Given the description of an element on the screen output the (x, y) to click on. 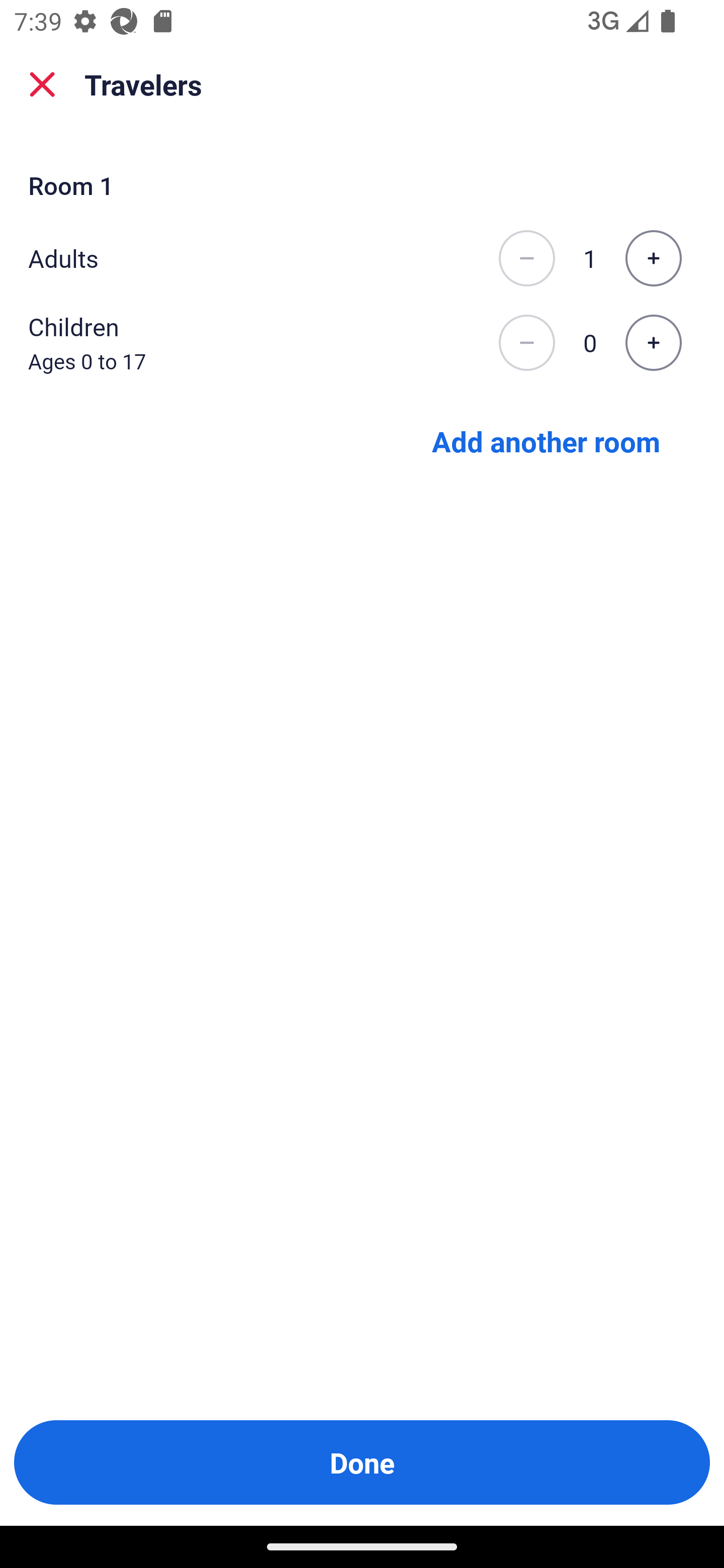
close (42, 84)
Decrease the number of adults (526, 258)
Increase the number of adults (653, 258)
Decrease the number of children (526, 343)
Increase the number of children (653, 343)
Add another room (545, 440)
Done (361, 1462)
